Given the description of an element on the screen output the (x, y) to click on. 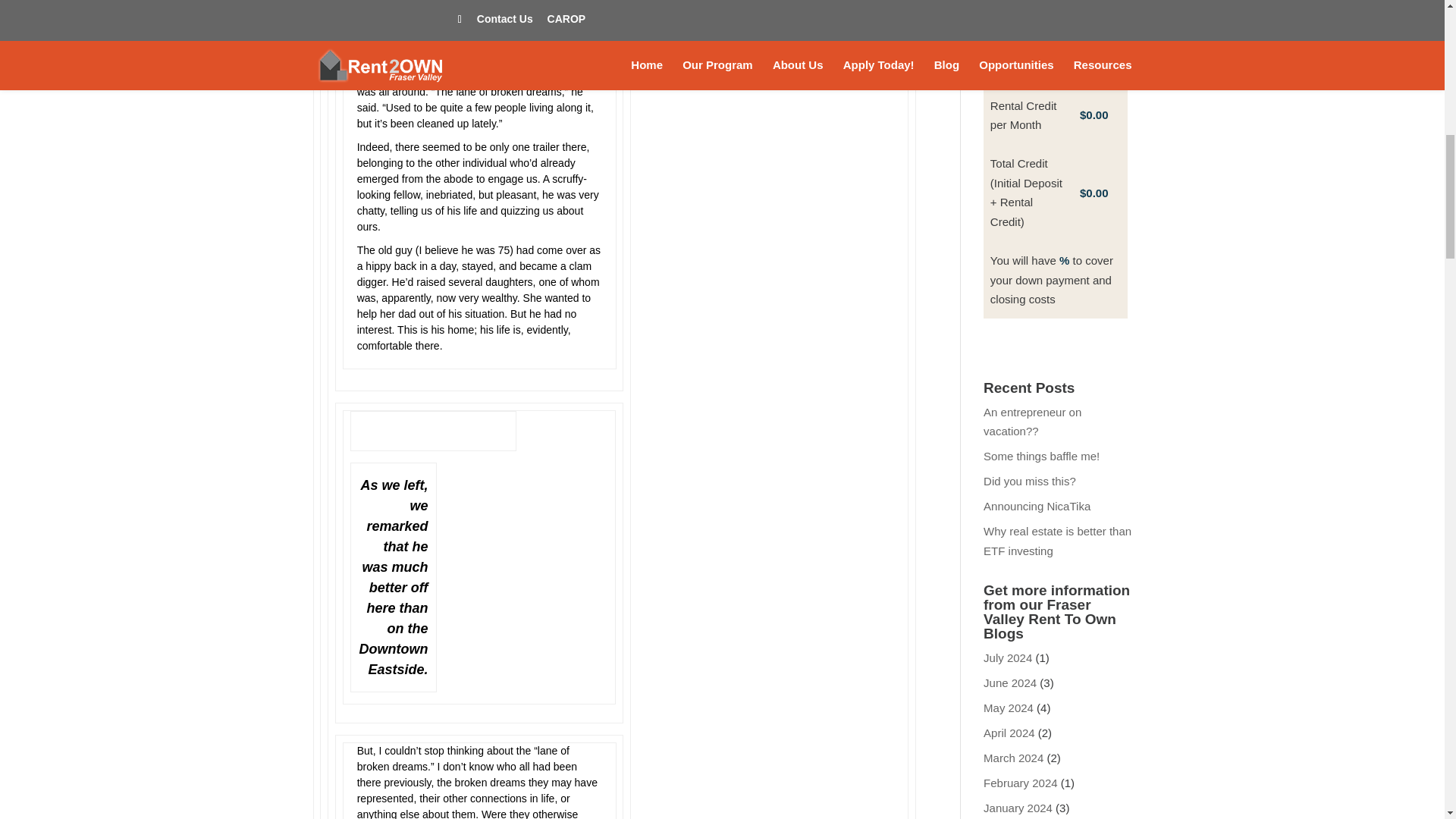
Some things baffle me! (1041, 455)
April 2024 (1009, 732)
July 2024 (1008, 657)
Did you miss this? (1029, 481)
An entrepreneur on vacation?? (1032, 421)
January 2024 (1018, 807)
May 2024 (1008, 707)
Announcing NicaTika (1037, 505)
March 2024 (1013, 757)
June 2024 (1010, 682)
Why real estate is better than ETF investing (1057, 540)
February 2024 (1021, 782)
